Given the description of an element on the screen output the (x, y) to click on. 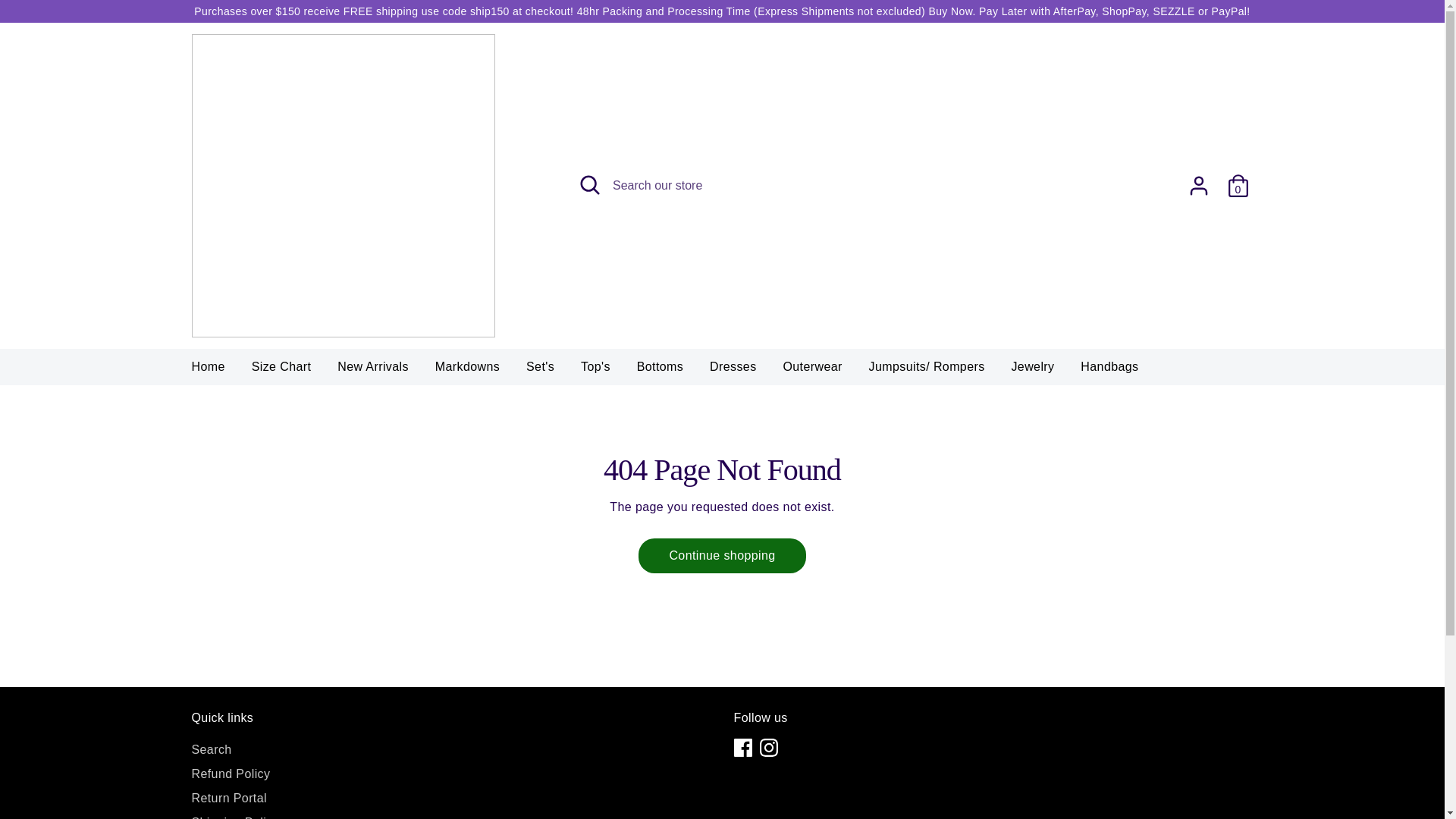
Top's (595, 370)
Markdowns (467, 370)
Home (207, 370)
Bottoms (660, 370)
Size Chart (281, 370)
0 (1237, 185)
Outerwear (812, 370)
New Arrivals (373, 370)
Dresses (732, 370)
Set's (540, 370)
